Given the description of an element on the screen output the (x, y) to click on. 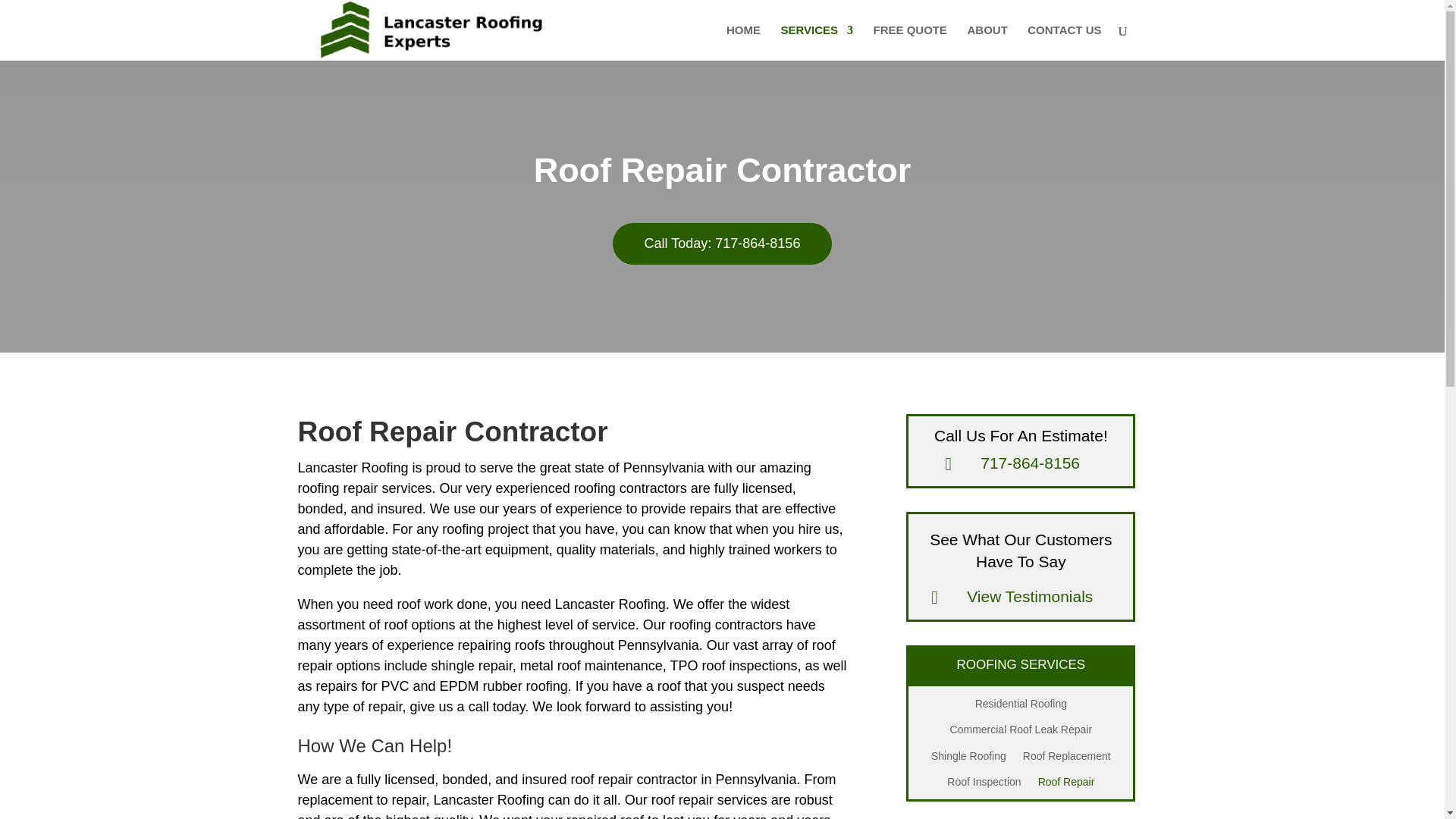
Residential Roofing (1021, 706)
Roof Inspection (983, 784)
ABOUT (987, 42)
SERVICES (816, 42)
Call Today: 717-864-8156 (722, 243)
Shingle Roofing (968, 759)
View Testimonials (1029, 596)
CONTACT US (1063, 42)
FREE QUOTE (910, 42)
HOME (743, 42)
